Given the description of an element on the screen output the (x, y) to click on. 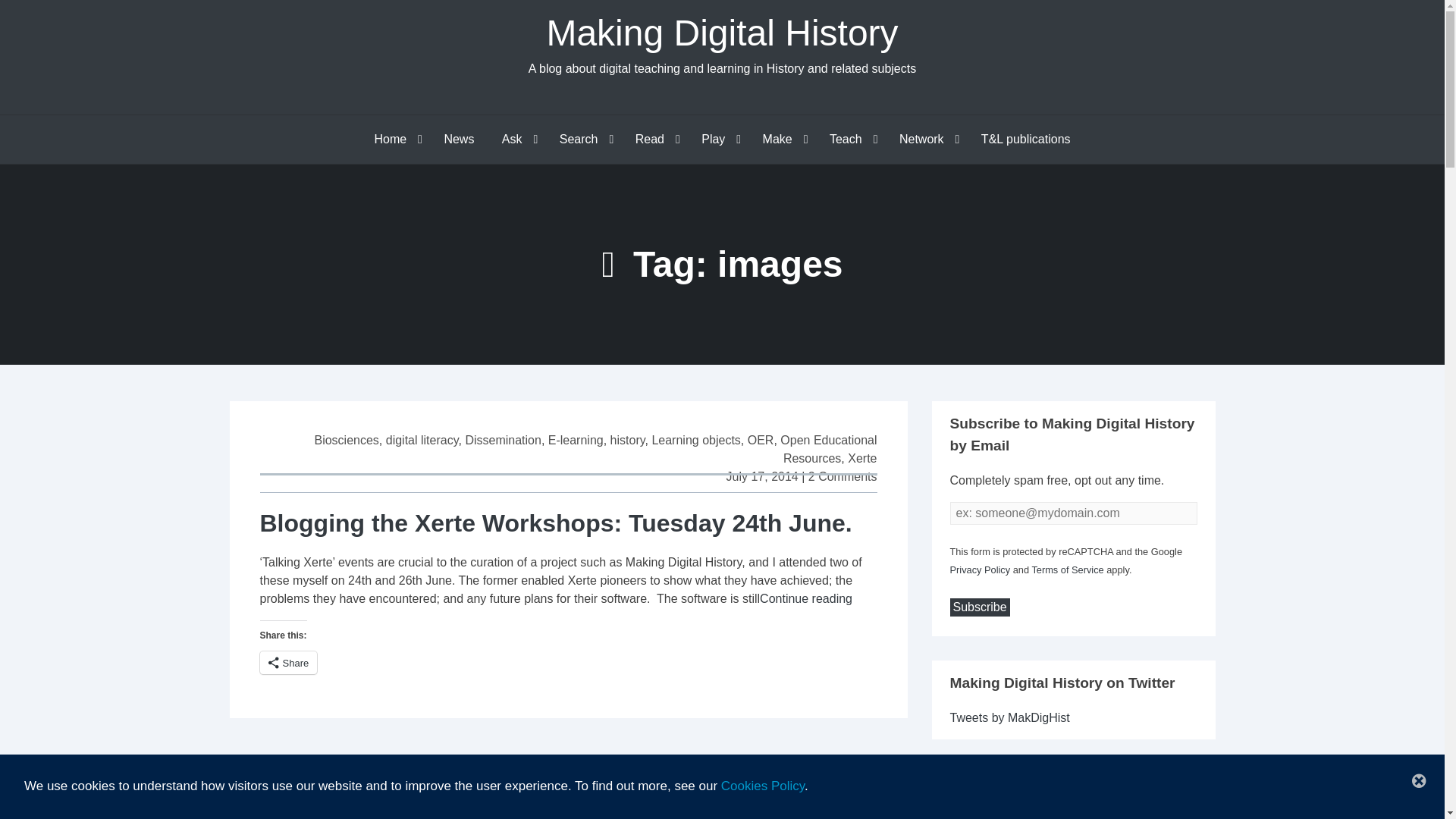
Read (654, 139)
Subscribe (979, 607)
Ask (516, 139)
Search (583, 139)
Making Digital History (722, 33)
Home (394, 139)
News (458, 139)
Biosciences (346, 440)
Network (925, 139)
Make (782, 139)
